Given the description of an element on the screen output the (x, y) to click on. 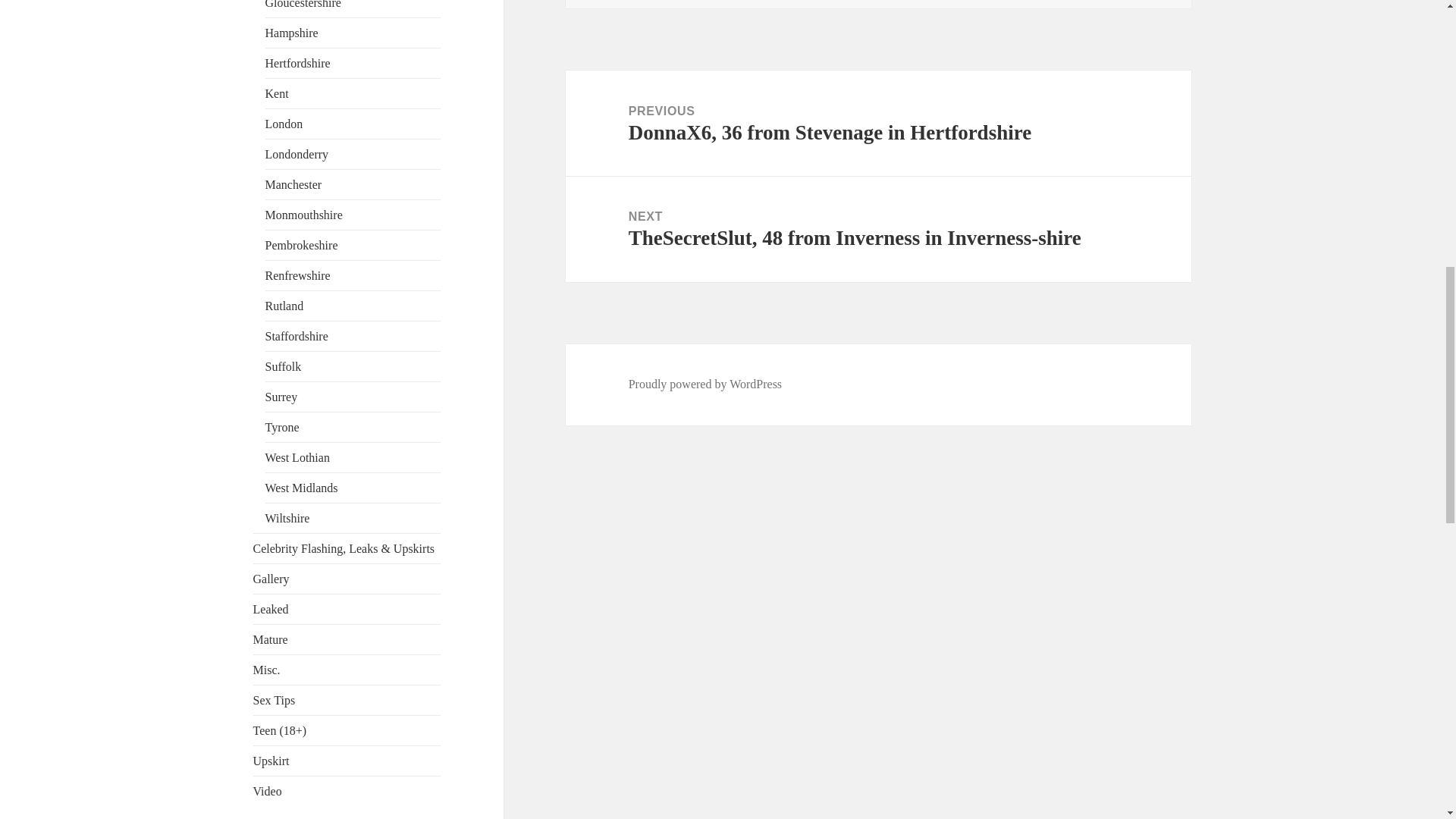
Kent (276, 92)
Upskirt (271, 760)
Gallery (271, 578)
Video (267, 790)
Rutland (284, 305)
Surrey (281, 396)
Pembrokeshire (300, 245)
Manchester (292, 184)
London (283, 123)
Misc. (267, 669)
